Given the description of an element on the screen output the (x, y) to click on. 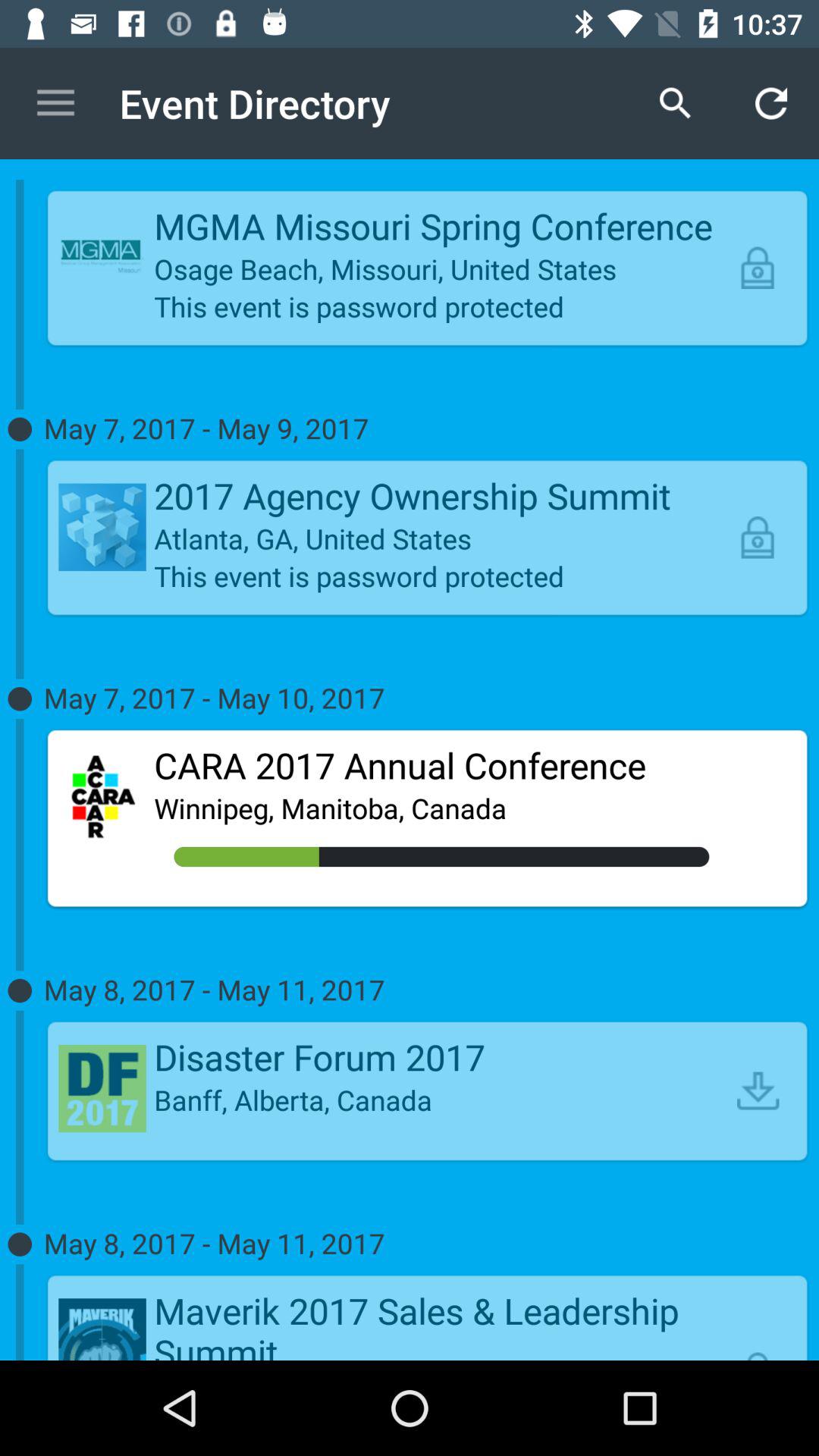
select the item above may 8 2017 item (758, 1090)
